Given the description of an element on the screen output the (x, y) to click on. 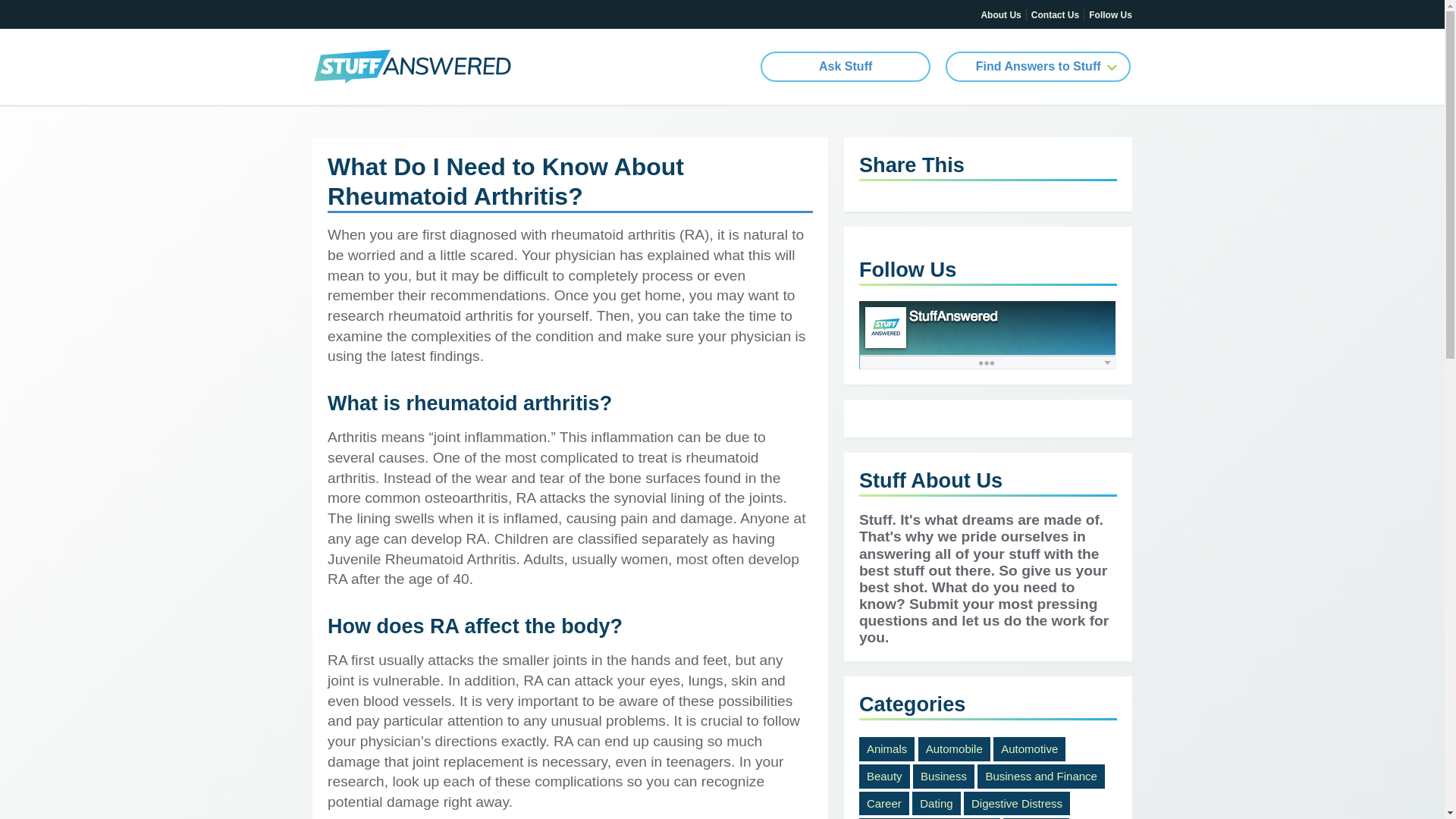
Beauty (884, 776)
Contact Us (1054, 14)
Follow Us (1110, 14)
Business (943, 776)
Education (1035, 818)
Automobile (954, 749)
Automotive (1028, 749)
Animals (886, 749)
Digestive Distress (1016, 803)
